Given the description of an element on the screen output the (x, y) to click on. 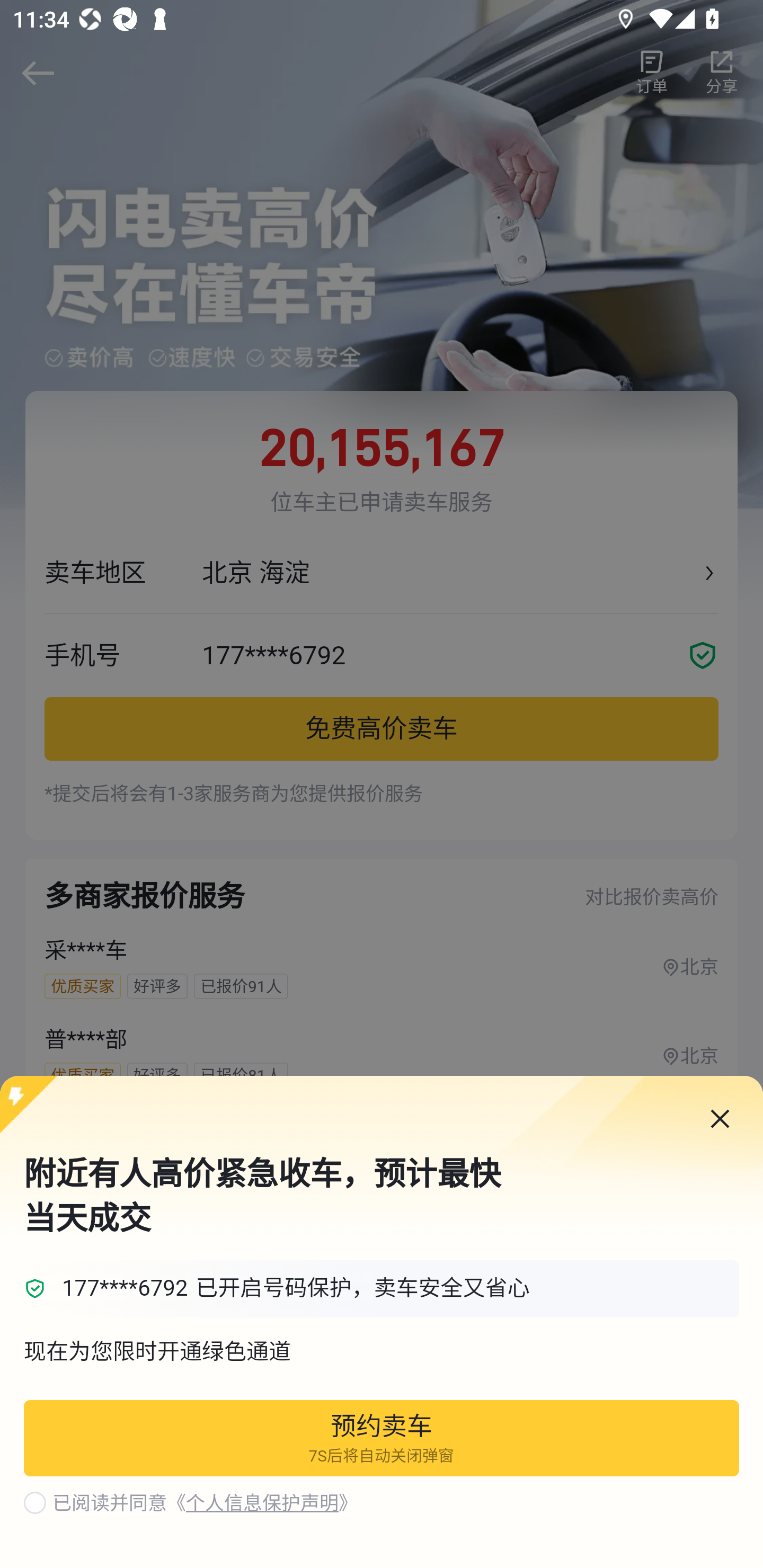
预约卖车 15S后将自动关闭弹窗 (381, 1438)
已阅读并同意《 个人信息保护声明 个人信息保护声明 》 (205, 1503)
